Given the description of an element on the screen output the (x, y) to click on. 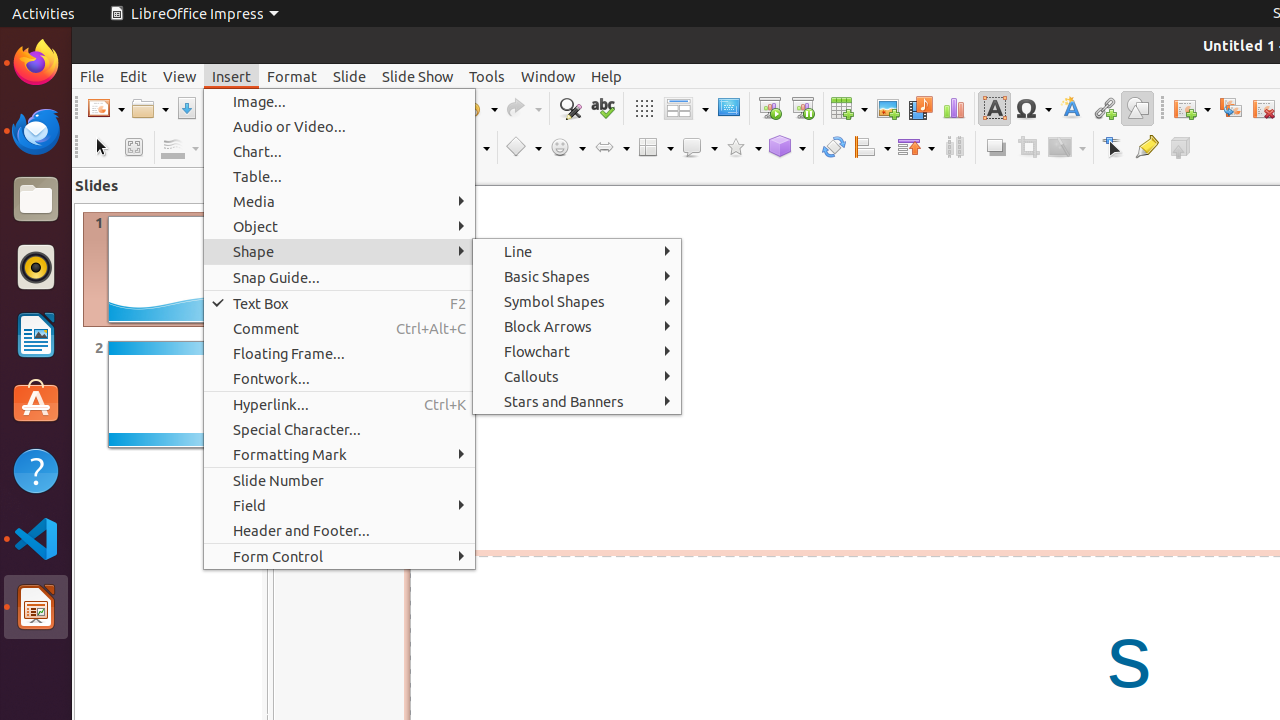
Slide Element type: menu (349, 76)
File Element type: menu (92, 76)
LibreOffice Impress Element type: menu (193, 13)
Floating Frame... Element type: menu-item (339, 353)
Files Element type: push-button (36, 199)
